Given the description of an element on the screen output the (x, y) to click on. 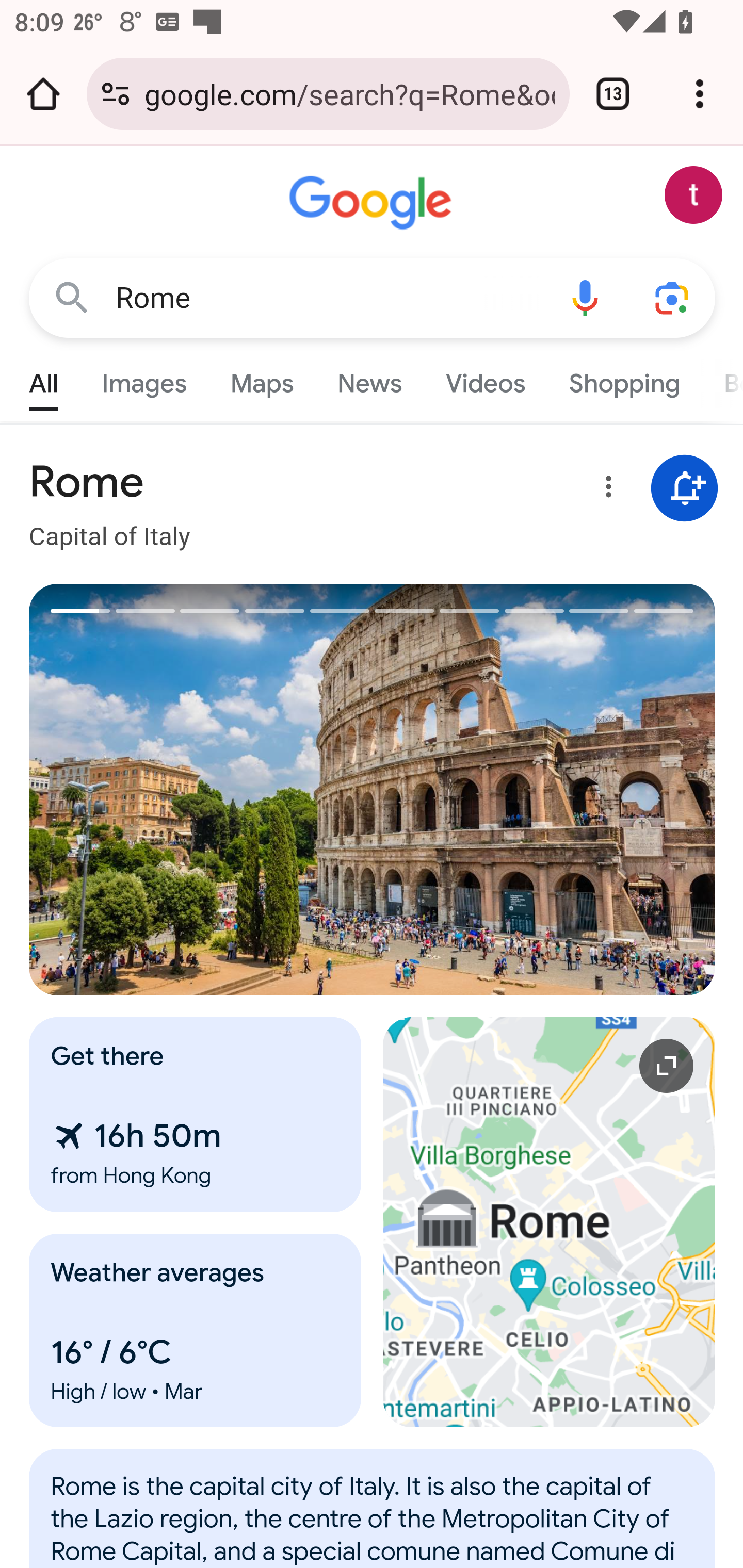
Open the home page (43, 93)
Connection is secure (115, 93)
Switch or close tabs (612, 93)
Customize and control Google Chrome (699, 93)
Google (372, 203)
Google Search (71, 296)
Search using your camera or photos (672, 296)
Rome (328, 297)
Images (144, 378)
Maps (261, 378)
News (369, 378)
Videos (485, 378)
Shopping (623, 378)
Get notifications about Rome (684, 489)
More options (605, 489)
Previous image (200, 790)
Next image (544, 790)
Expand map (549, 1222)
Weather averages 16° / 6°C High / low • Mar (195, 1330)
Rome (372, 1518)
